Given the description of an element on the screen output the (x, y) to click on. 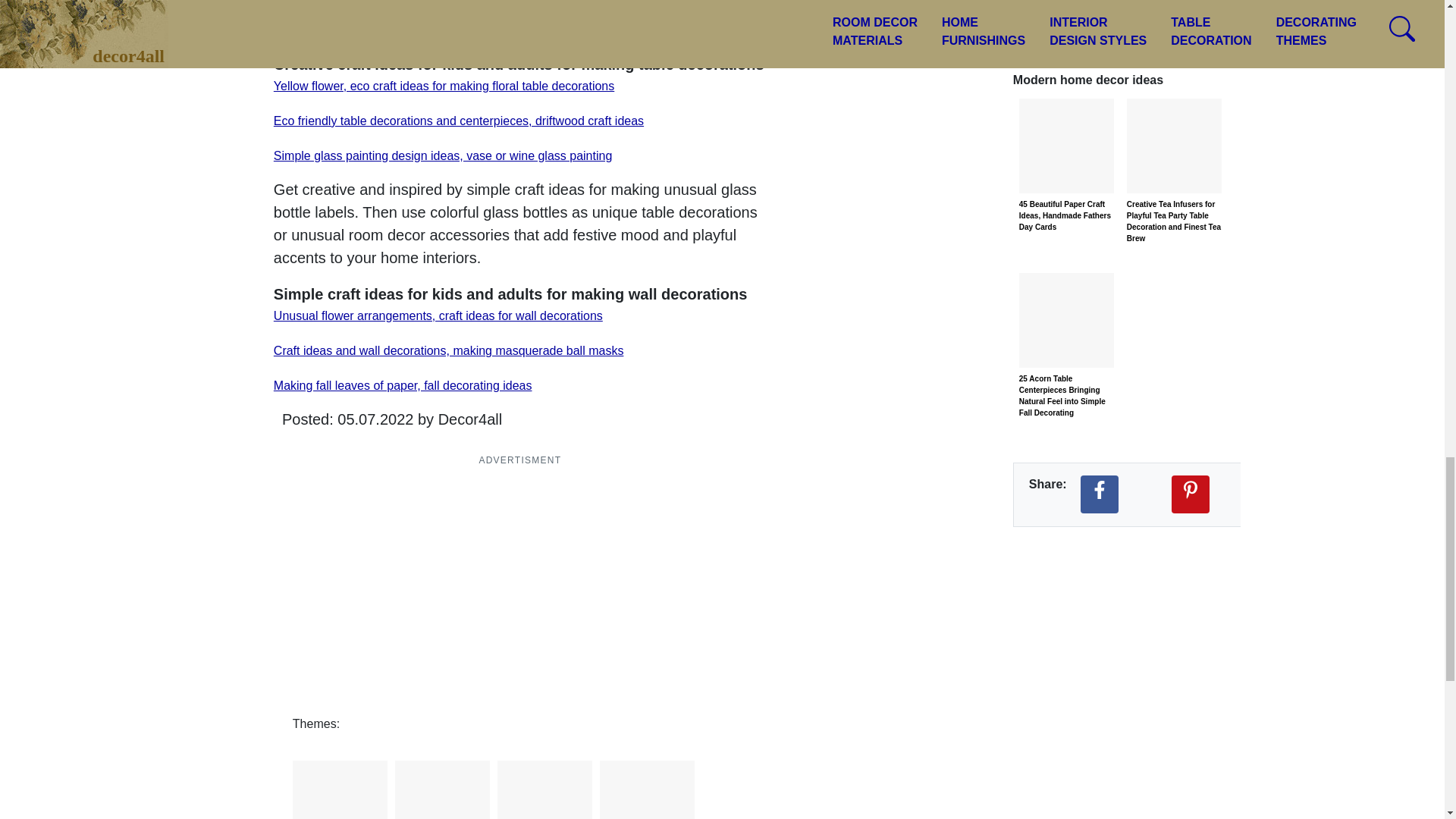
Making fall leaves of paper, fall decorating ideas (402, 385)
